Given the description of an element on the screen output the (x, y) to click on. 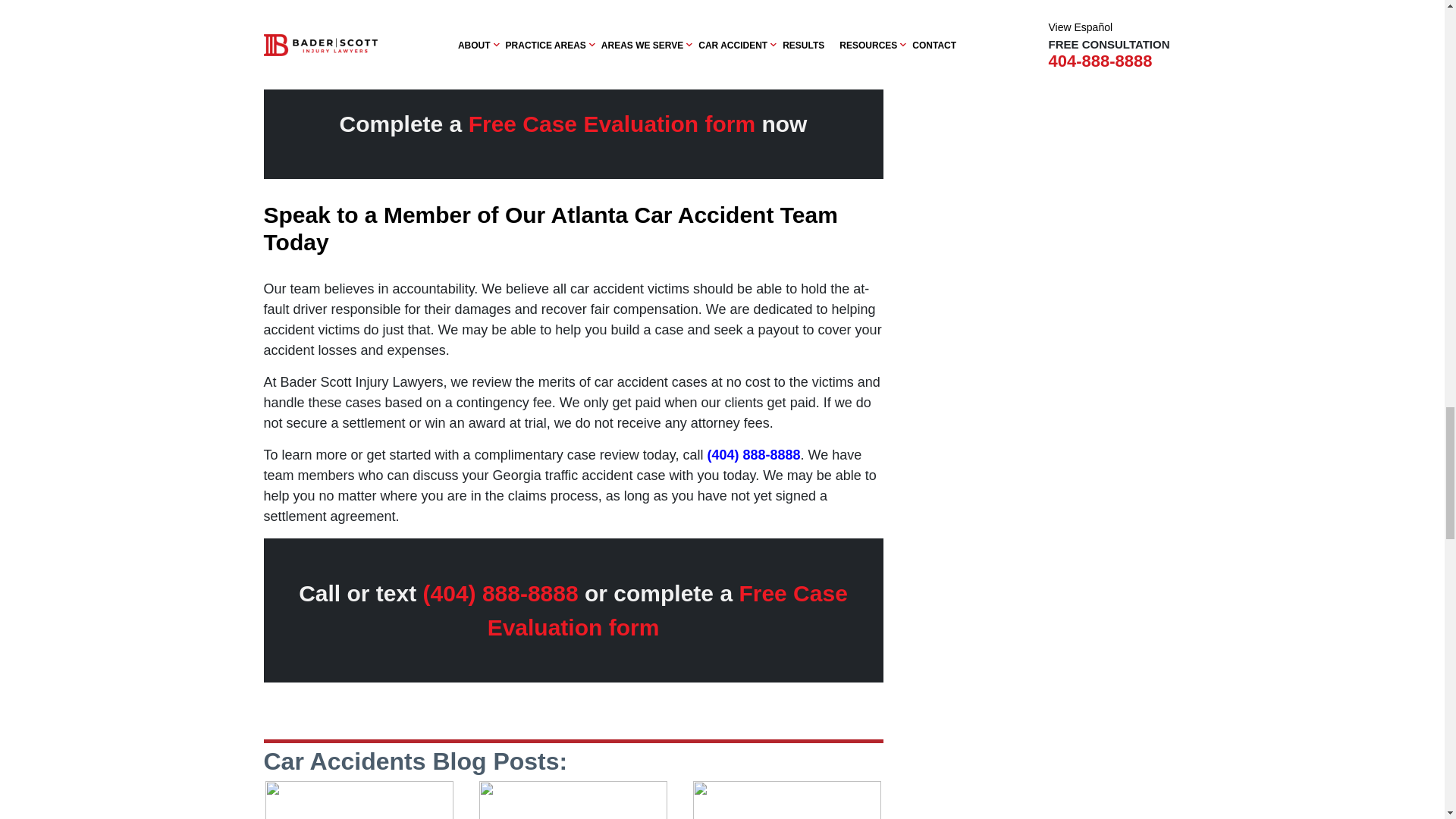
What Does It Mean When You Total Your Car? (358, 800)
How Many Atlanta Traffic Accidents Occur Each Year? (572, 800)
